Given the description of an element on the screen output the (x, y) to click on. 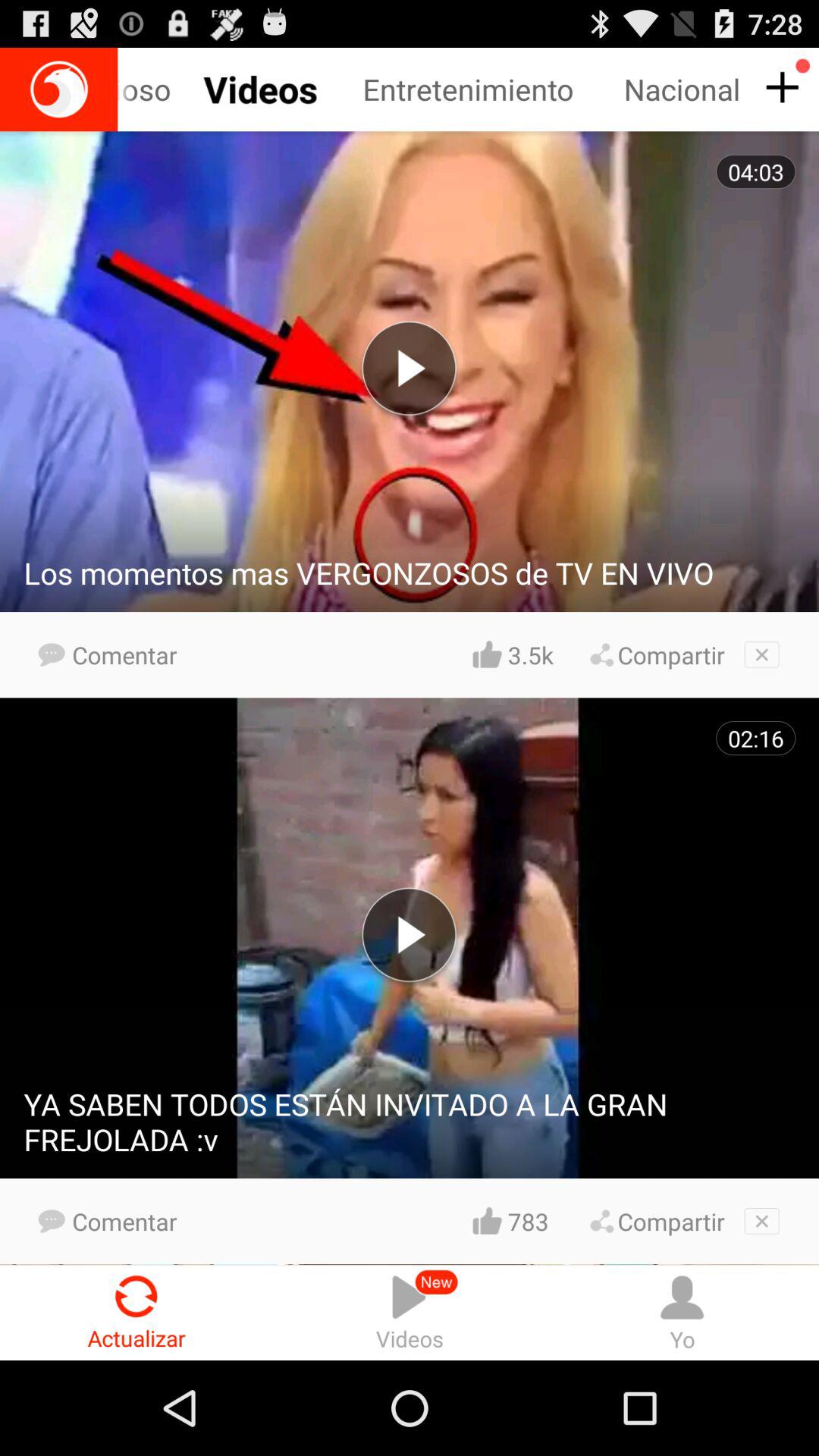
turn off the icon next to the videos item (682, 1312)
